Given the description of an element on the screen output the (x, y) to click on. 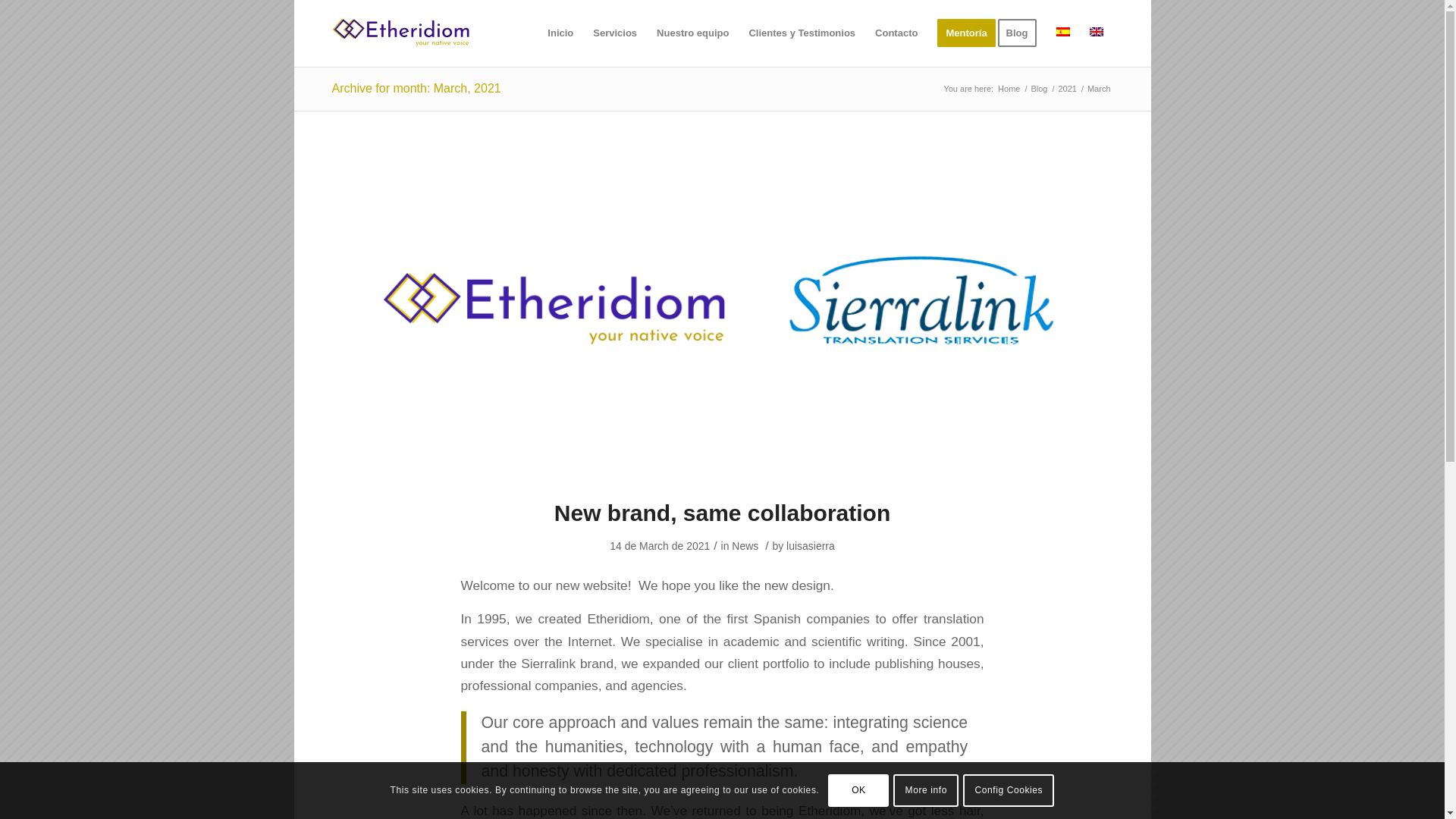
Nuestro equipo (692, 33)
News (745, 545)
luisasierra (810, 545)
Posts by luisasierra (810, 545)
Servicios (614, 33)
